Given the description of an element on the screen output the (x, y) to click on. 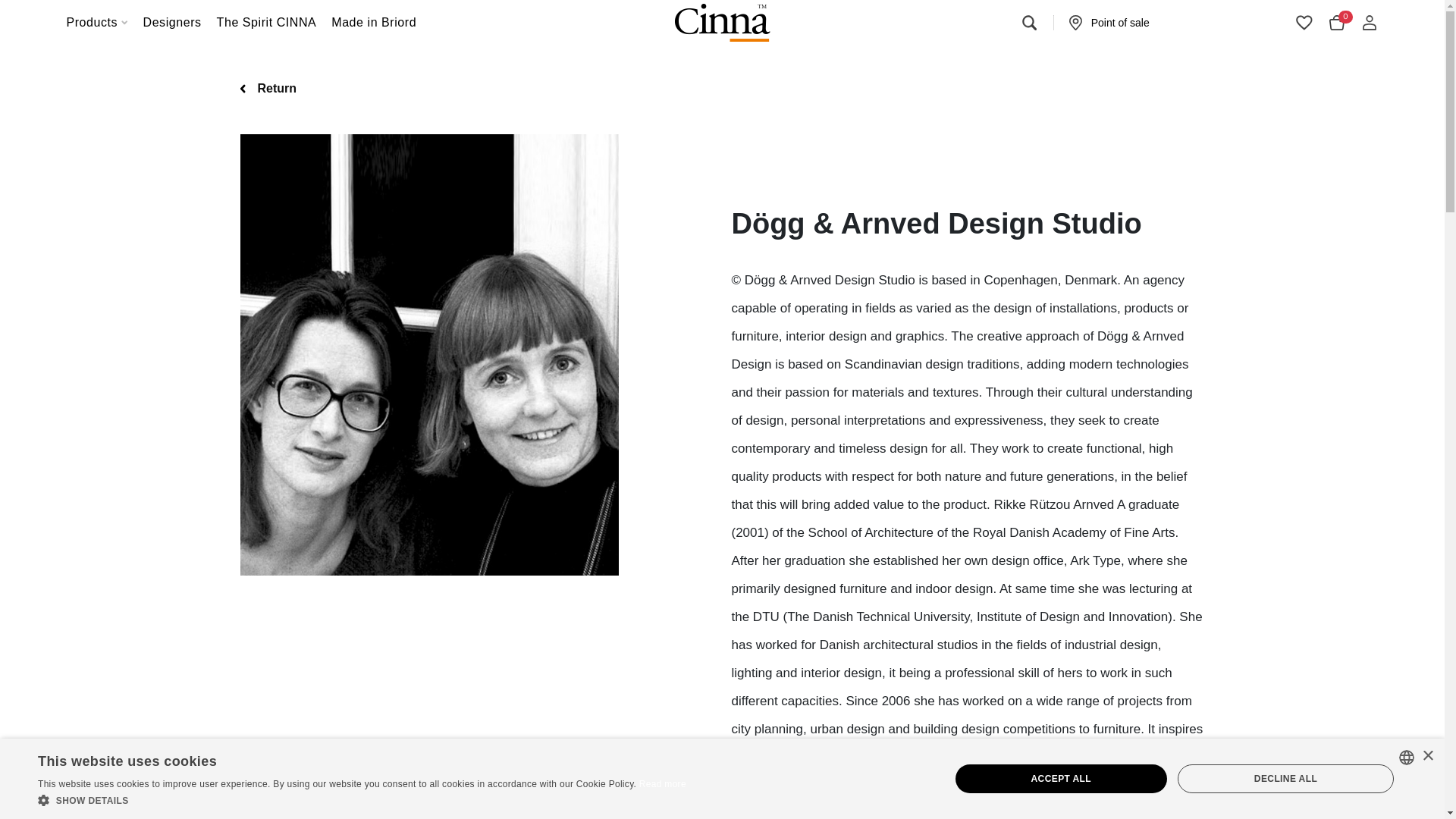
Made in Briord (373, 22)
Products (97, 22)
The Spirit CINNA (266, 22)
Designers (172, 22)
